Given the description of an element on the screen output the (x, y) to click on. 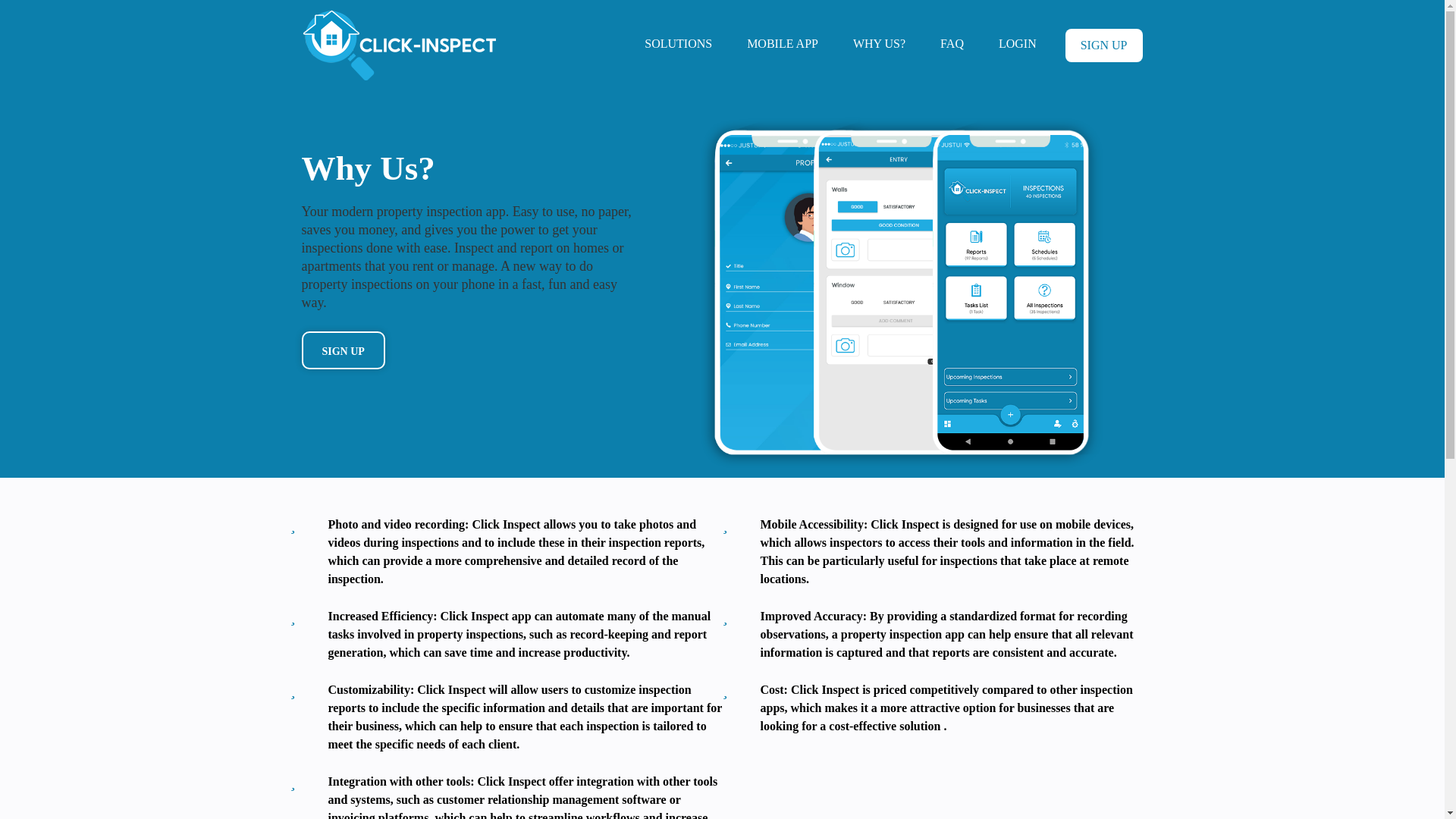
LOGIN (1017, 43)
SIGN UP (343, 350)
MOBILE APP (782, 43)
SIGN UP (1103, 45)
FAQ (951, 43)
WHY US? (879, 43)
SOLUTIONS (678, 43)
